Given the description of an element on the screen output the (x, y) to click on. 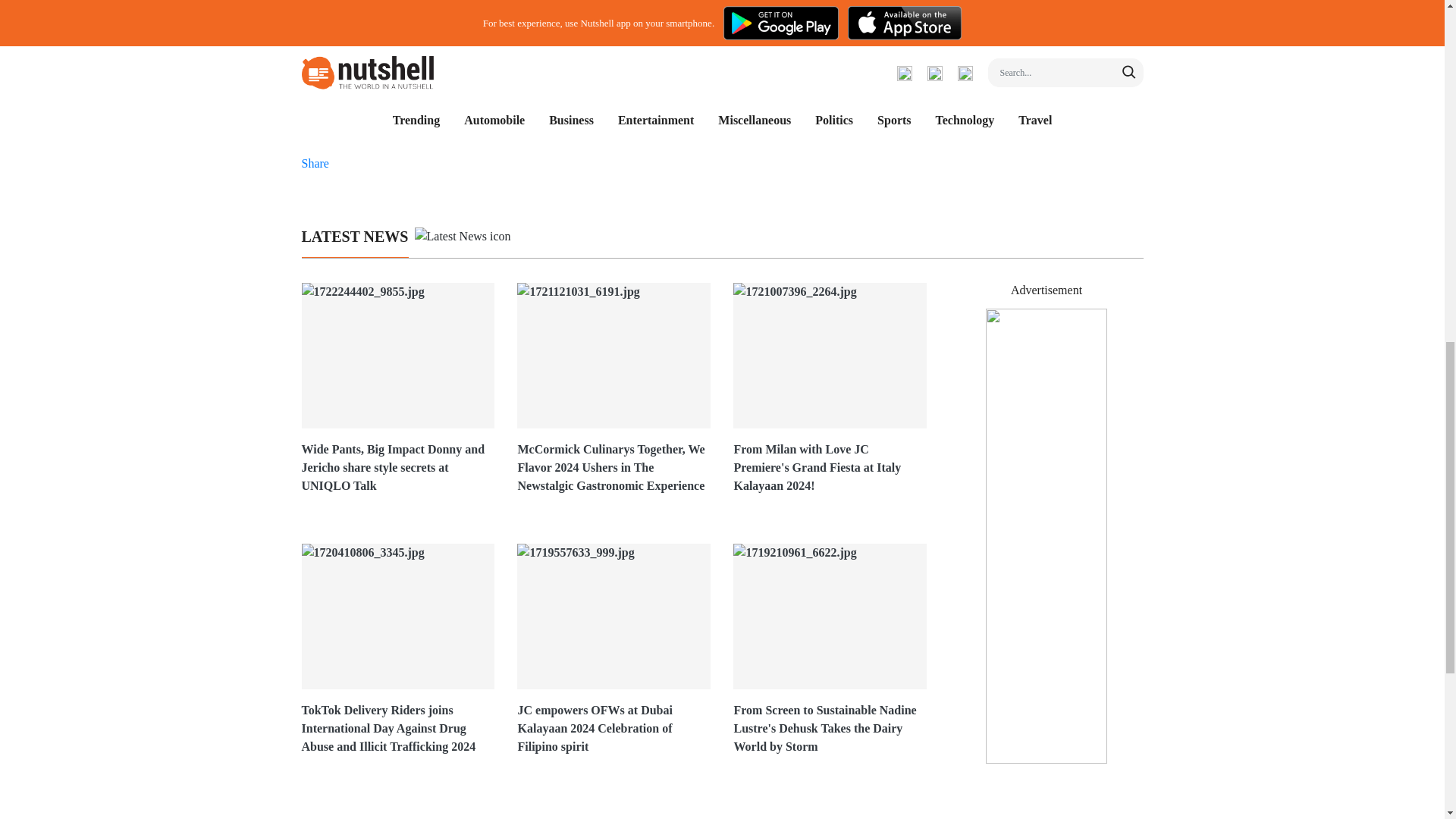
Share (315, 163)
